Given the description of an element on the screen output the (x, y) to click on. 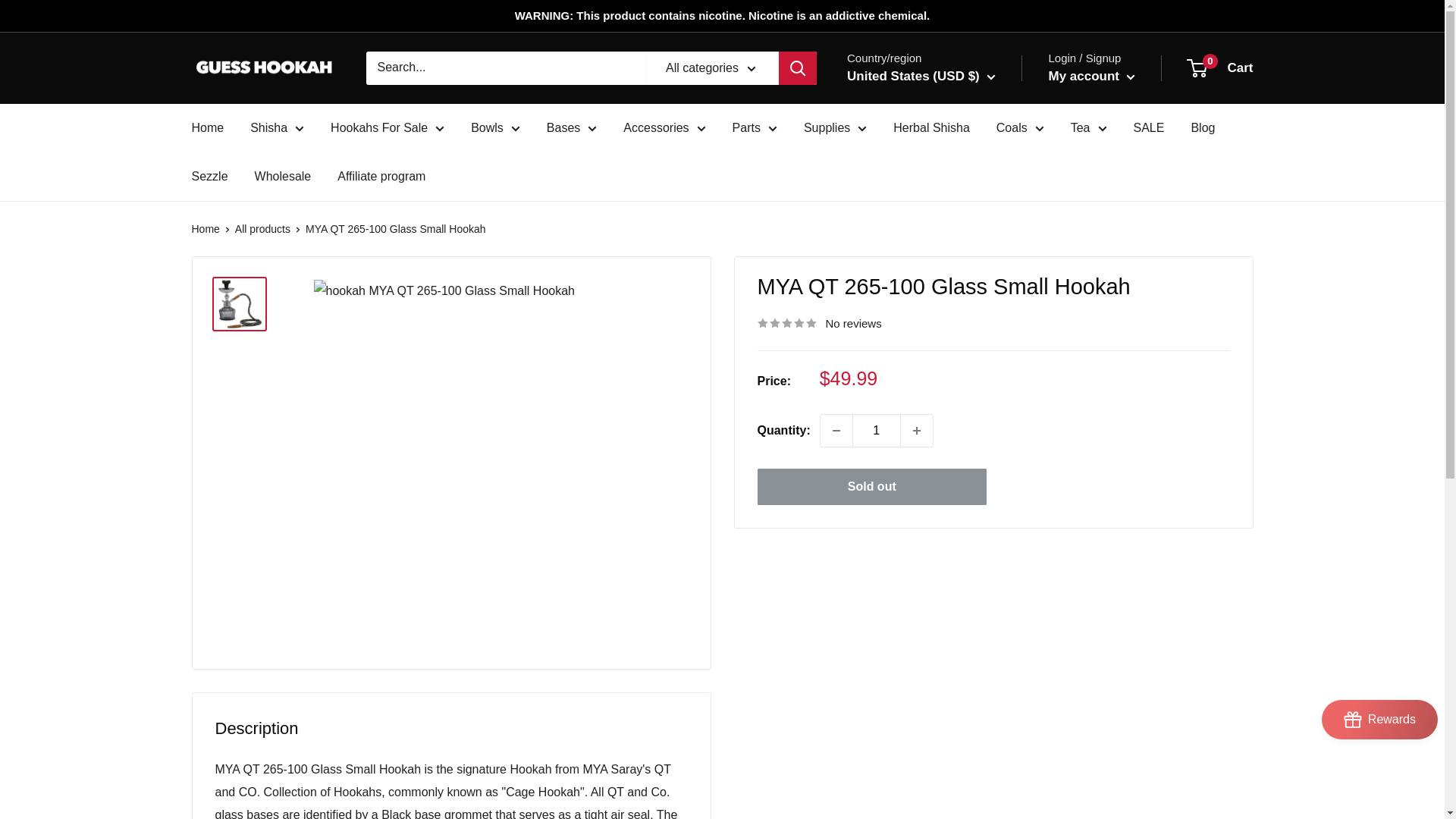
Decrease quantity by 1 (836, 430)
Increase quantity by 1 (917, 430)
1 (876, 430)
